Given the description of an element on the screen output the (x, y) to click on. 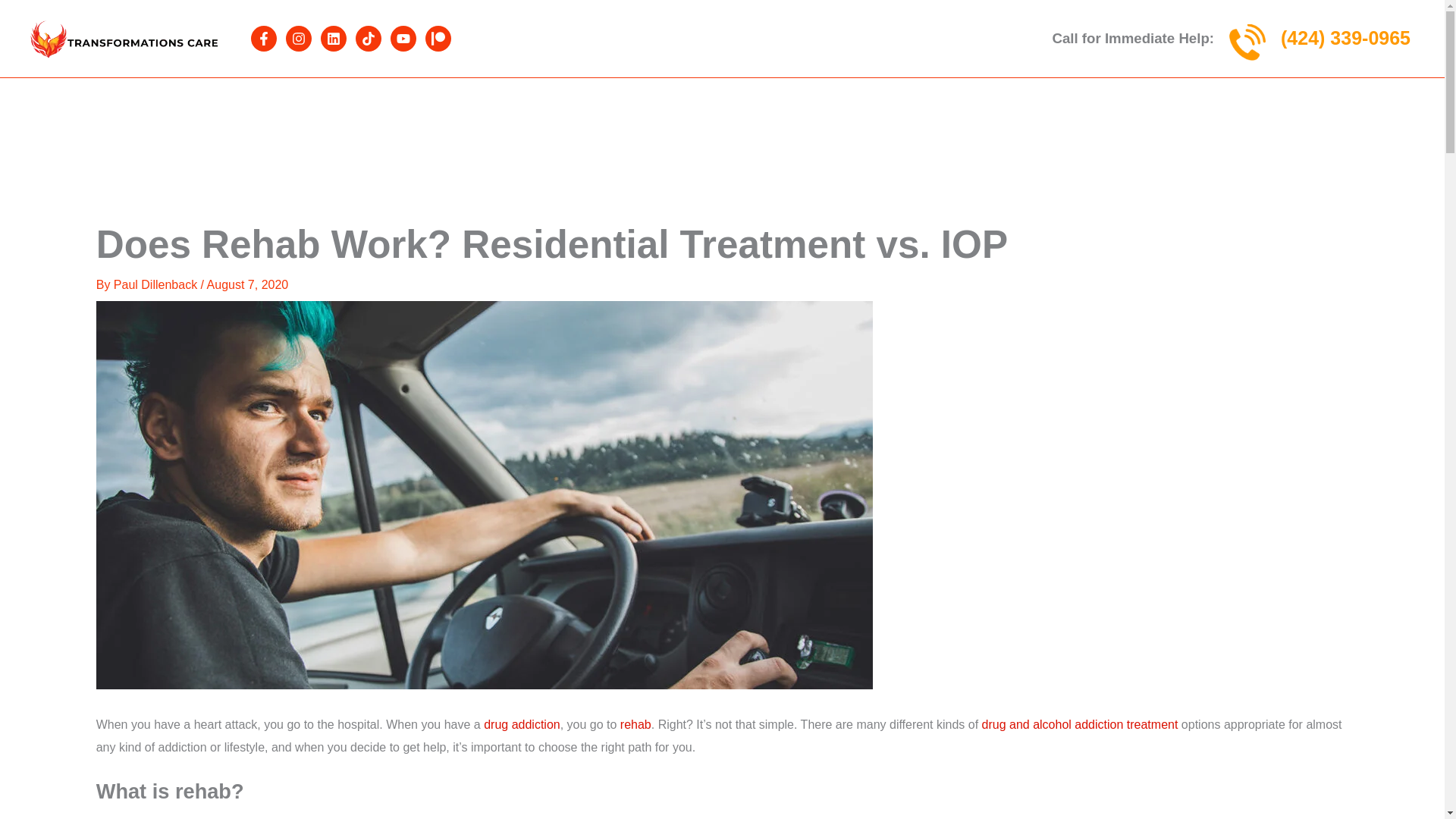
Substance Abuse Treatment (706, 92)
About Us (396, 92)
Facility (477, 92)
Programs (561, 92)
View all posts by Paul Dillenback (156, 284)
